Given the description of an element on the screen output the (x, y) to click on. 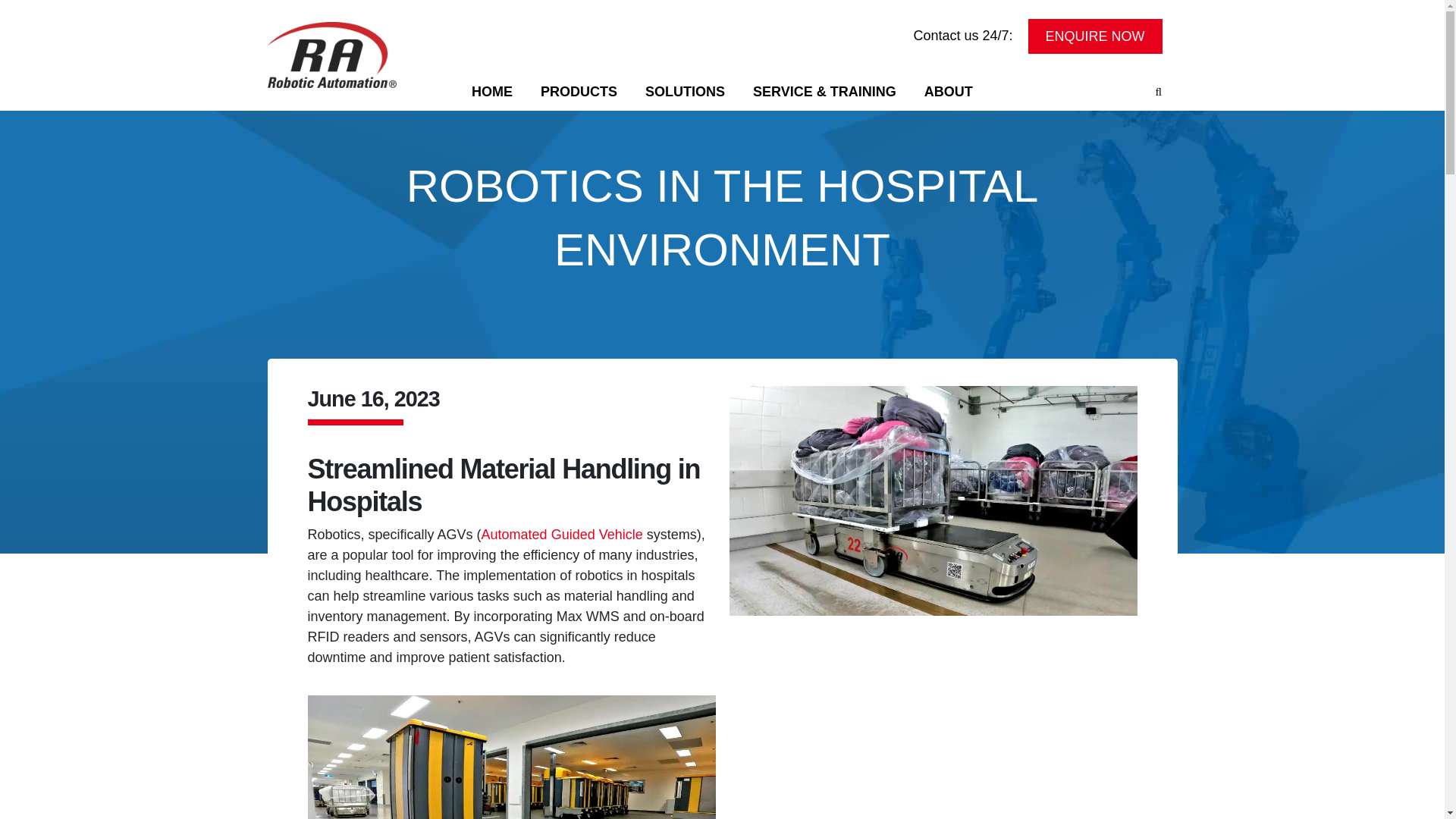
PRODUCTS (577, 90)
Automated Guided Vehicle (562, 534)
ABOUT (948, 90)
ENQUIRE NOW (1094, 35)
SOLUTIONS (685, 90)
HOME (492, 90)
